Given the description of an element on the screen output the (x, y) to click on. 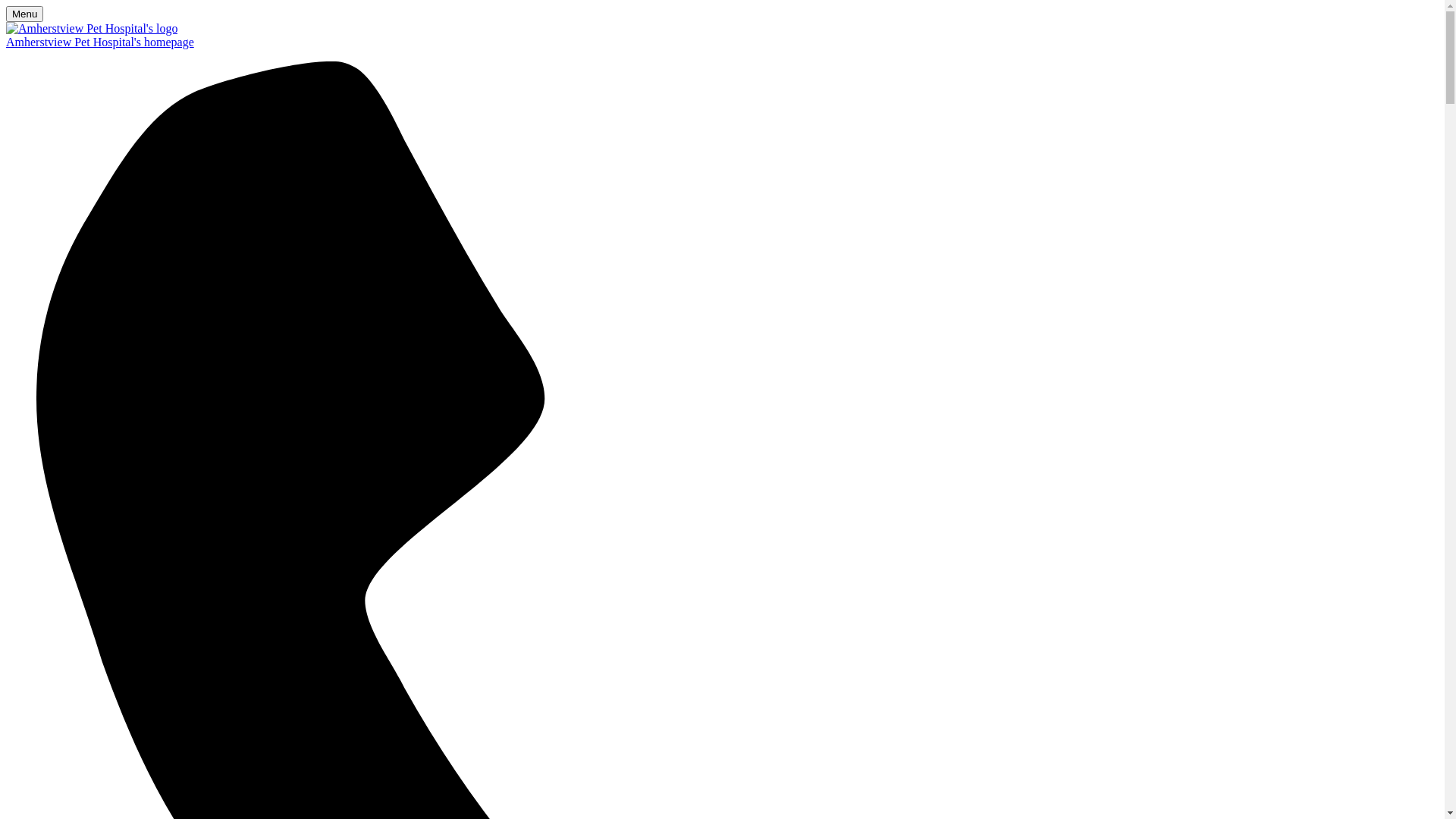
Amherstview Pet Hospital's homepage Element type: text (722, 42)
Menu Element type: text (24, 13)
